Given the description of an element on the screen output the (x, y) to click on. 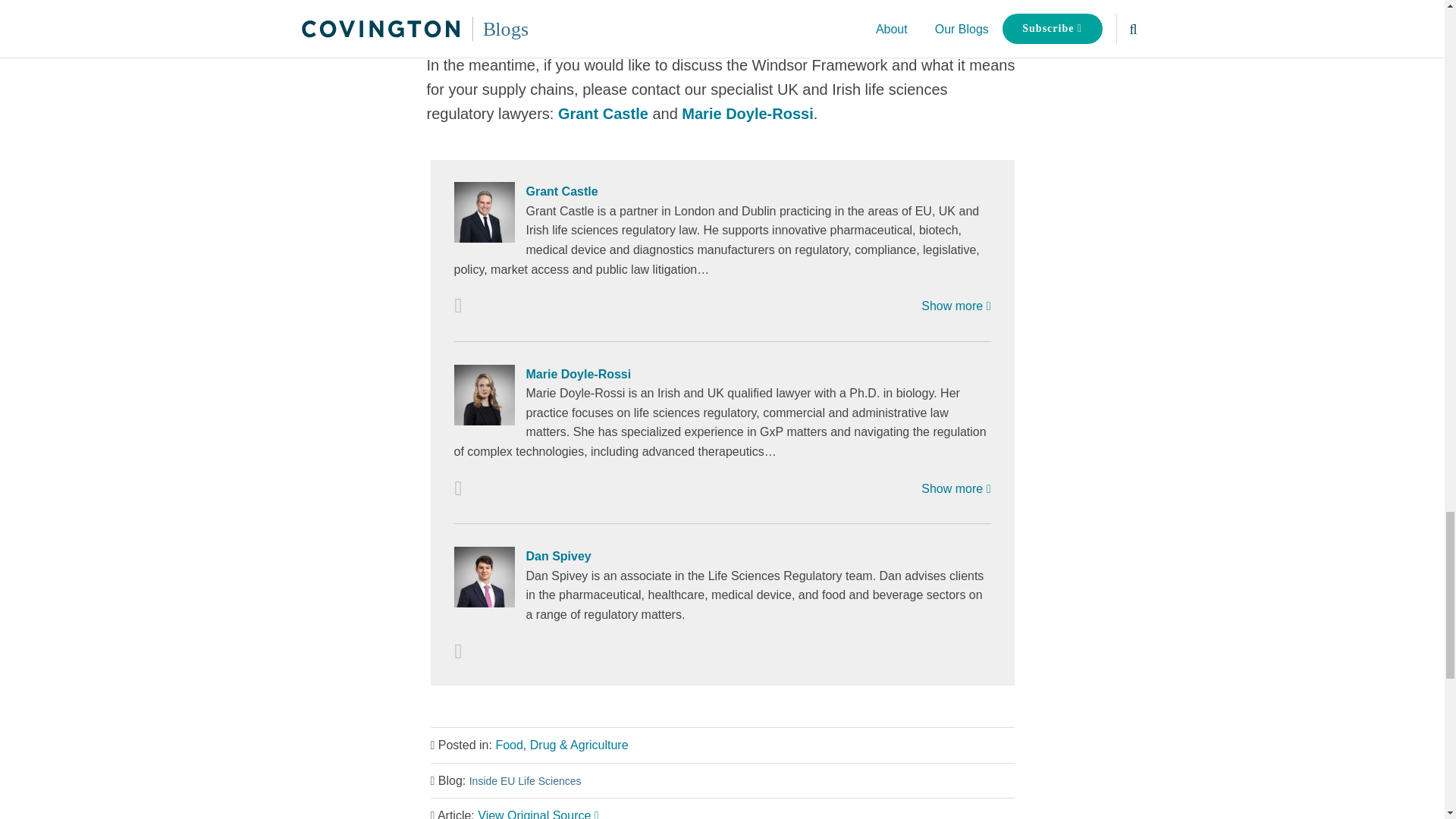
Show more (955, 488)
Read more about Marie Doyle-Rossi (458, 488)
Marie Doyle-Rossi (721, 374)
Grant Castle (602, 113)
Marie Doyle-Rossi (746, 113)
Read more about Grant Castle (458, 305)
Grant Castle (721, 191)
Read more about Dan Spivey (458, 651)
Dan Spivey (721, 556)
Show more (955, 305)
